Given the description of an element on the screen output the (x, y) to click on. 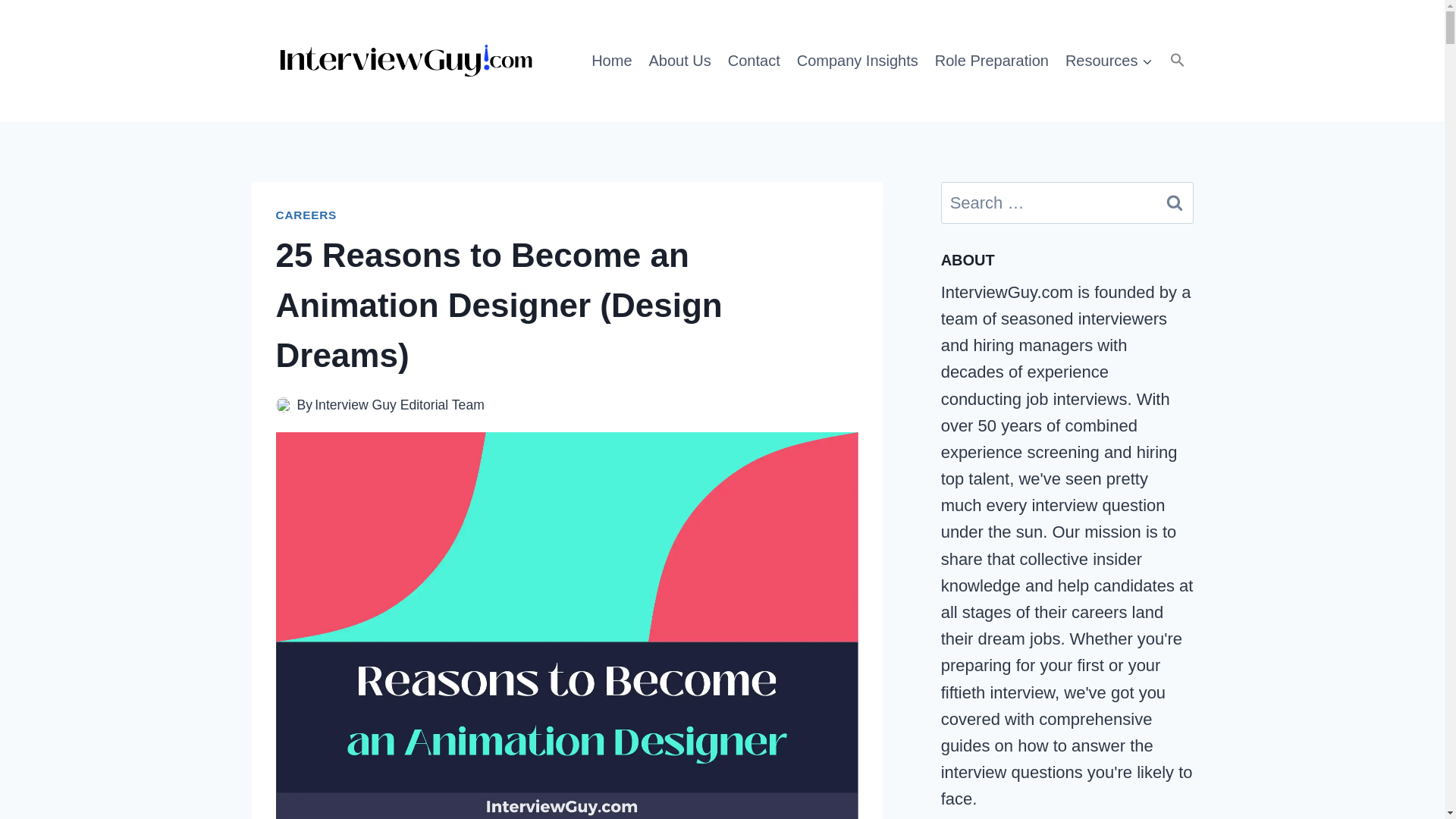
CAREERS (306, 214)
Resources (1109, 60)
About Us (679, 60)
Search (1174, 202)
Company Insights (857, 60)
Interview Guy Editorial Team (399, 404)
Search (1174, 202)
Role Preparation (991, 60)
